Given the description of an element on the screen output the (x, y) to click on. 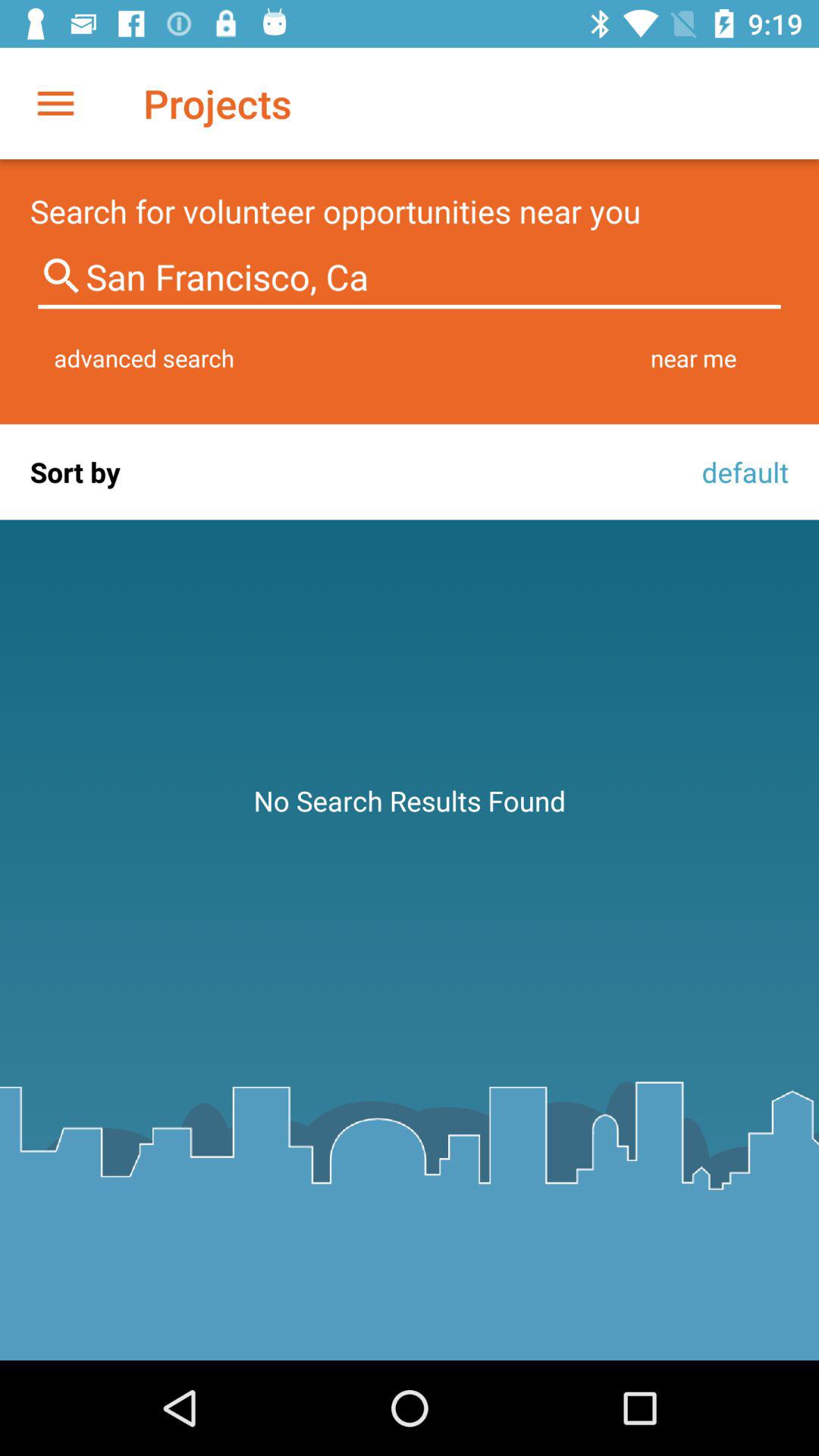
select the item below san francisco, ca icon (144, 358)
